Given the description of an element on the screen output the (x, y) to click on. 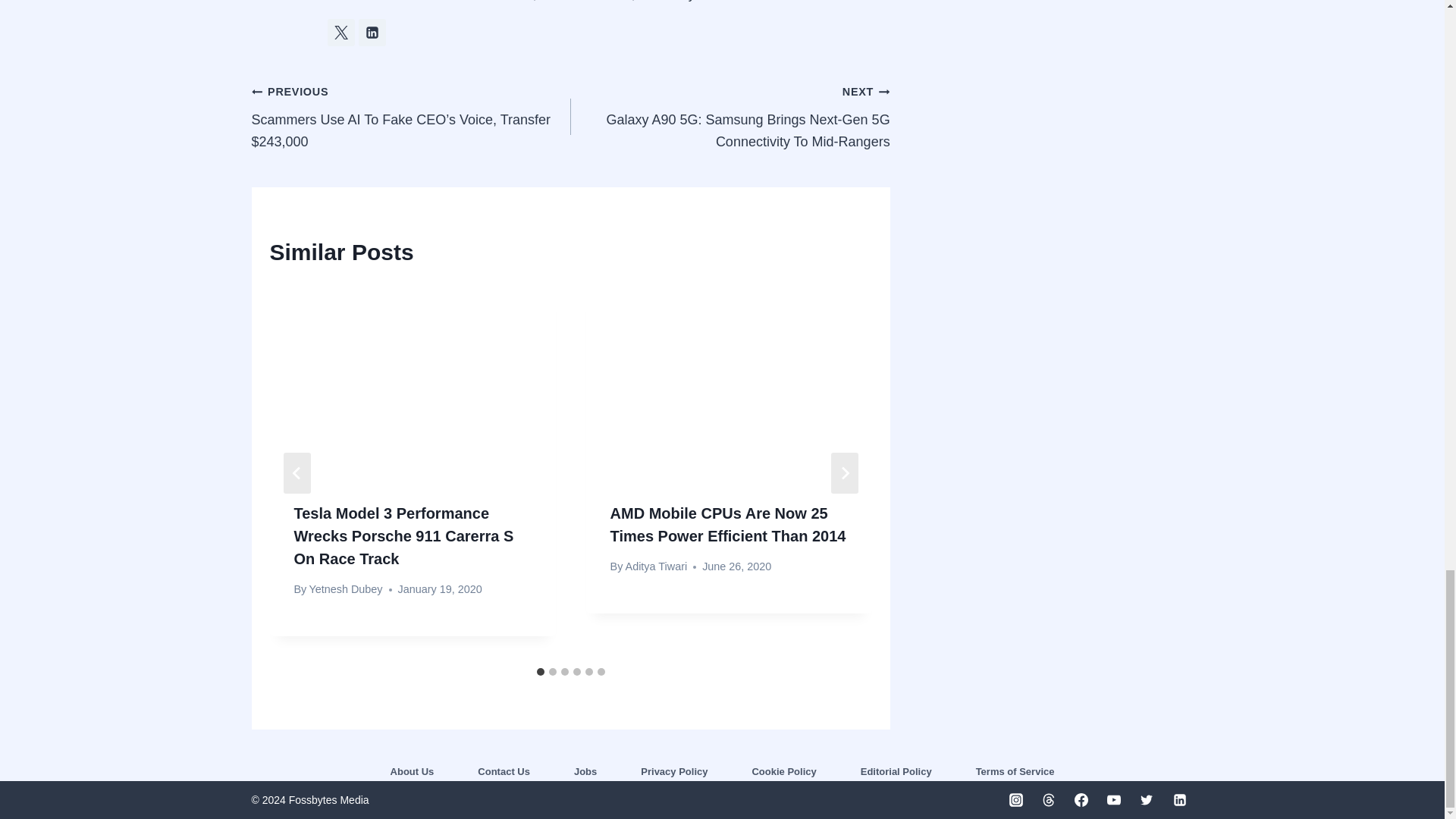
AMD Mobile CPUs Are Now 25 Times Power Efficient Than 2014 (727, 524)
Follow Charanjeet Singh on Linkedin (371, 31)
Aditya Tiwari (656, 566)
Follow Charanjeet Singh on X formerly Twitter (341, 31)
Yetnesh Dubey (344, 589)
